Given the description of an element on the screen output the (x, y) to click on. 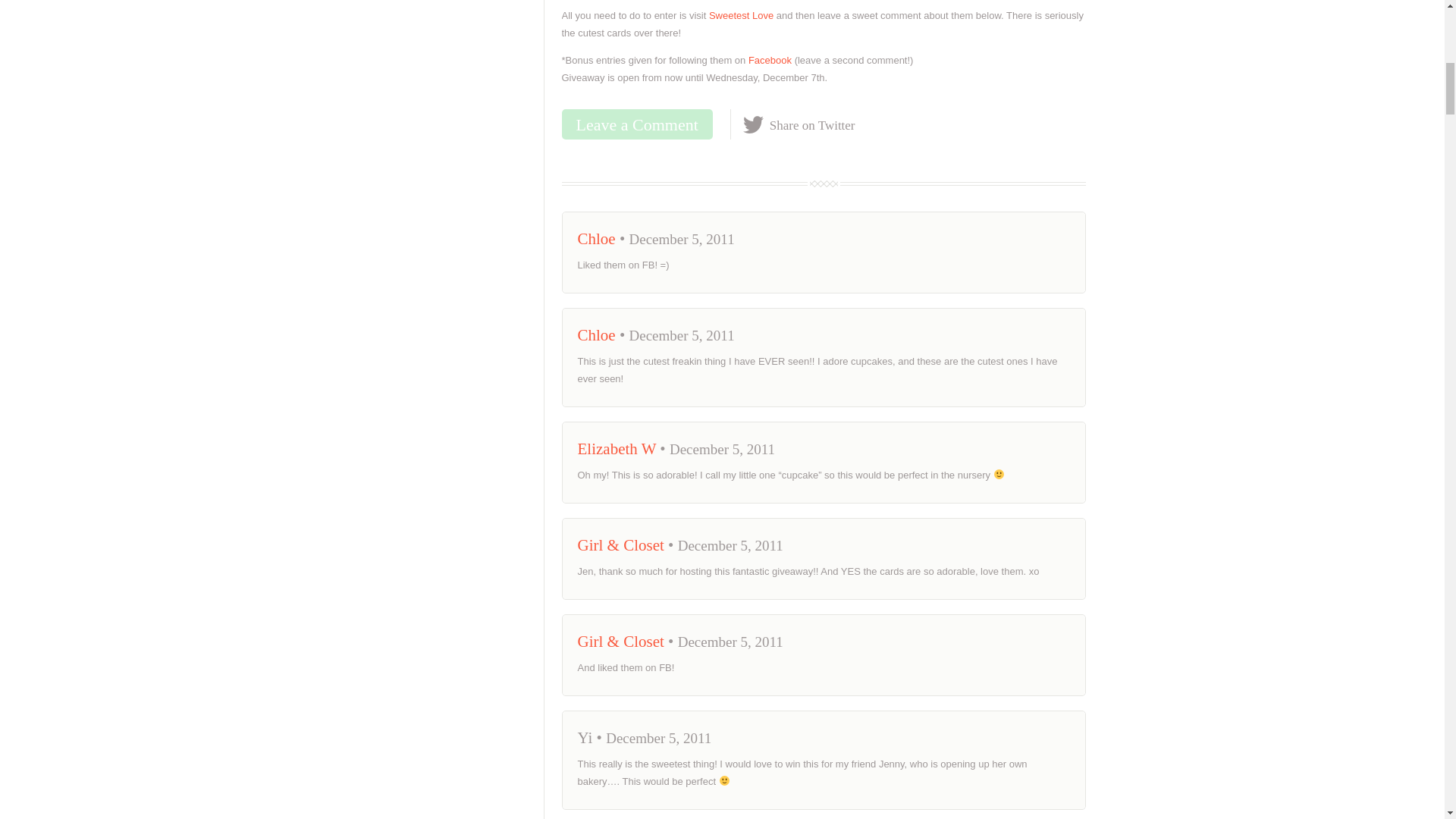
Leave a Comment (635, 123)
Facebook (770, 60)
Share on Twitter (799, 123)
Sweetest Love (741, 15)
